Given the description of an element on the screen output the (x, y) to click on. 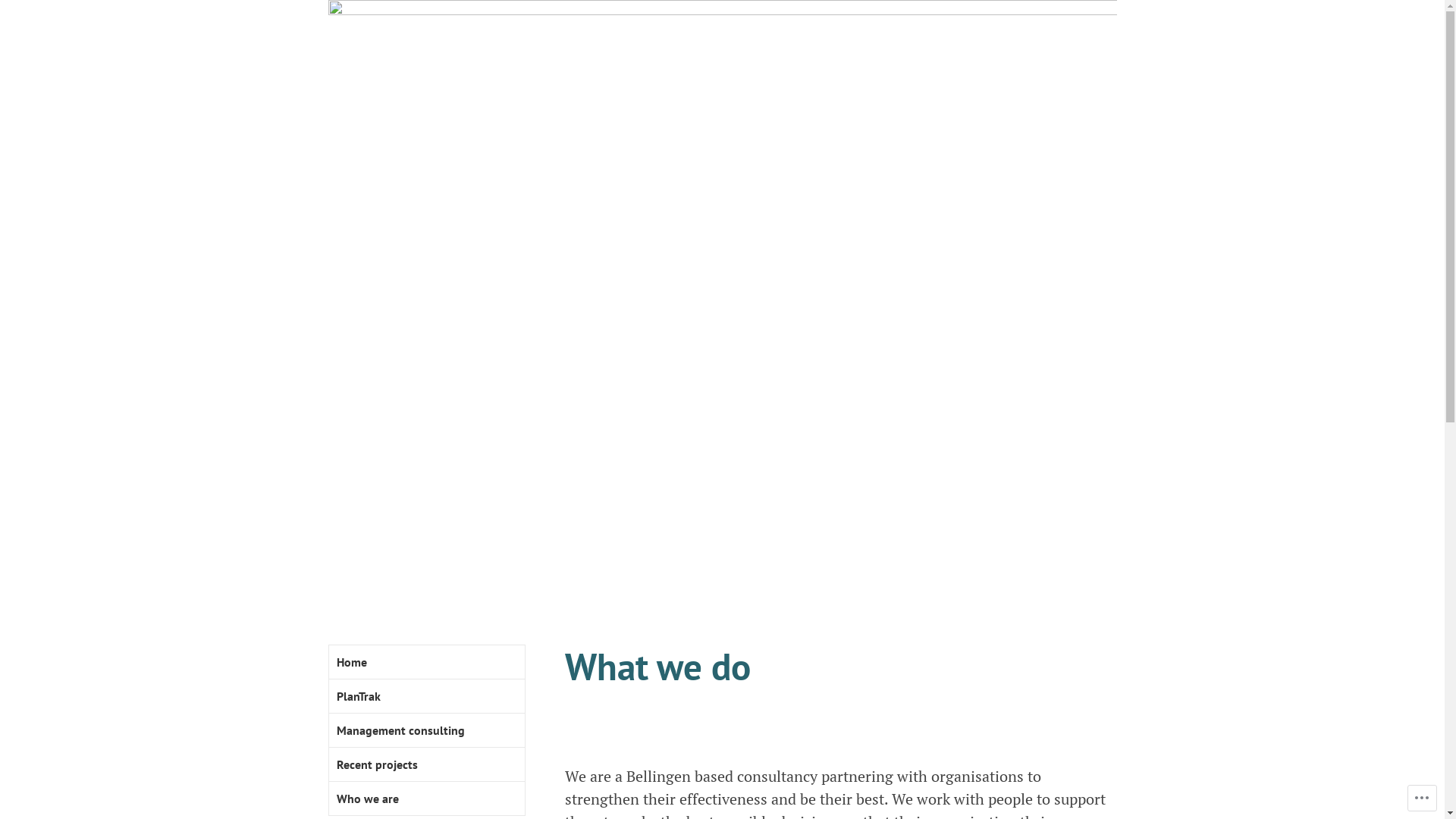
KemJ Element type: text (605, 569)
Home Element type: text (426, 662)
Management consulting Element type: text (426, 730)
Who we are Element type: text (426, 798)
Recent projects Element type: text (426, 764)
PlanTrak Element type: text (426, 696)
